Given the description of an element on the screen output the (x, y) to click on. 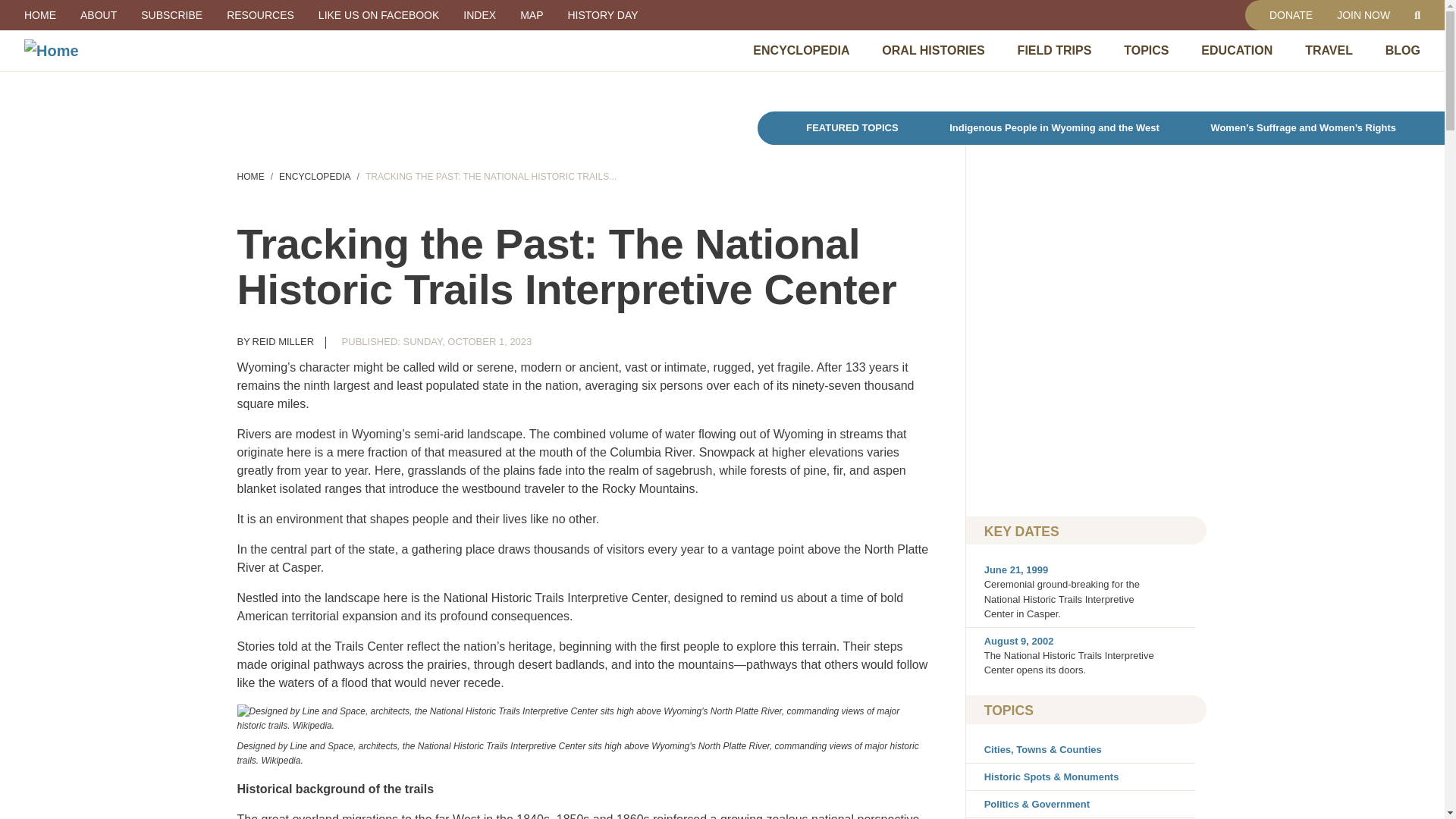
ORAL HISTORIES (933, 50)
INDEX (479, 15)
Home (169, 50)
SUBSCRIBE (171, 15)
TRAVEL (1328, 50)
ENCYCLOPEDIA (800, 50)
FIELD TRIPS (1054, 50)
RESOURCES (259, 15)
EDUCATION (1236, 50)
HOME (39, 15)
MAP (531, 15)
HISTORY DAY (601, 15)
LIKE US ON FACEBOOK (378, 15)
ABOUT (98, 15)
